Given the description of an element on the screen output the (x, y) to click on. 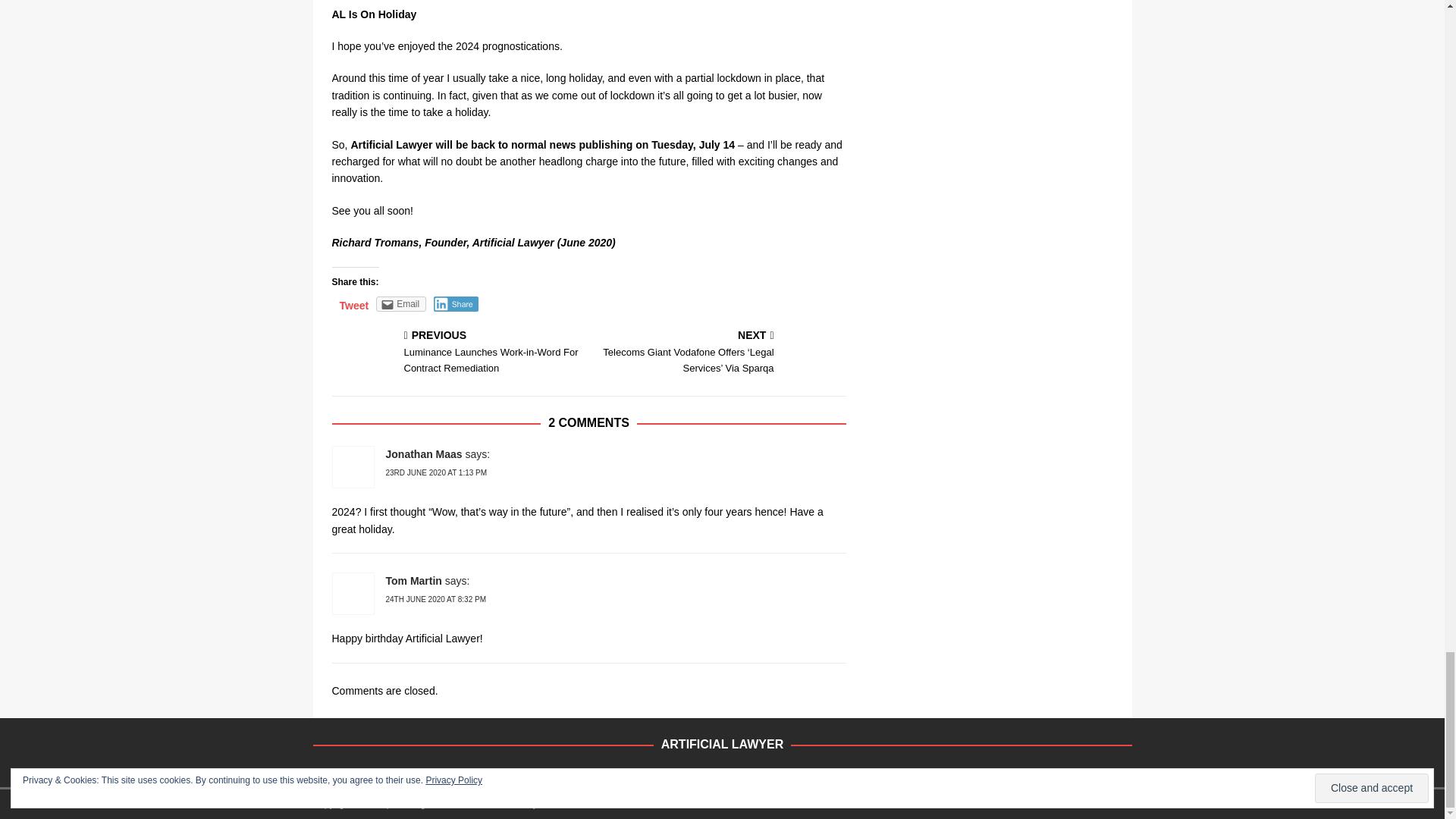
Premium WordPress Themes (564, 803)
Click to email a link to a friend (400, 304)
